Given the description of an element on the screen output the (x, y) to click on. 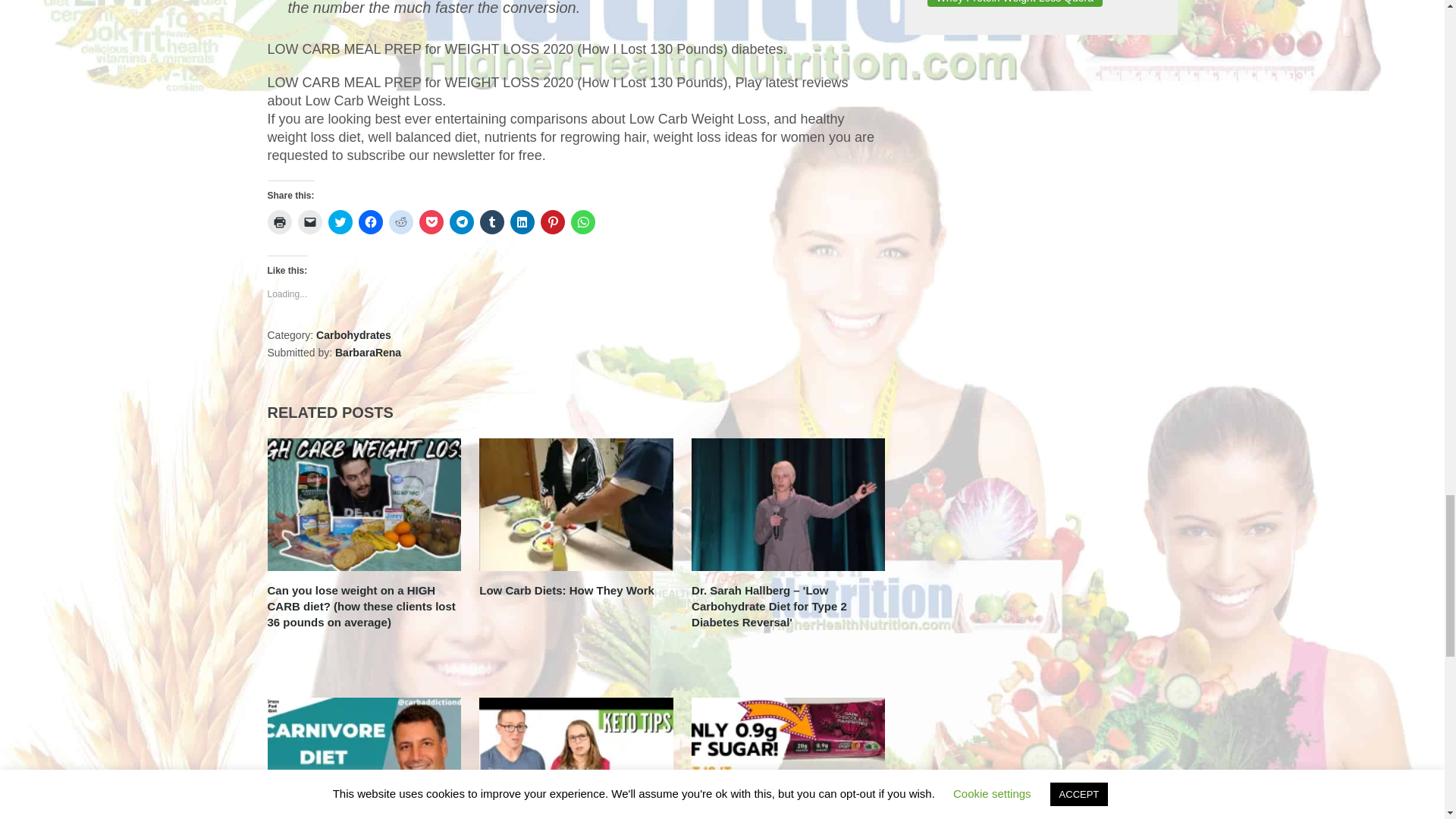
Click to share on LinkedIn (521, 221)
Click to share on Telegram (460, 221)
Low Carb Diets: How They Work (566, 590)
BarbaraRena (367, 352)
Carbohydrates (353, 335)
Click to share on Facebook (369, 221)
Click to share on Pinterest (552, 221)
Click to email a link to a friend (309, 221)
Click to print (278, 221)
Click to share on Pocket (430, 221)
Low Carb Diets: How They Work (575, 504)
Click to share on WhatsApp (582, 221)
Click to share on Tumblr (491, 221)
Click to share on Reddit (400, 221)
Click to share on Twitter (339, 221)
